Given the description of an element on the screen output the (x, y) to click on. 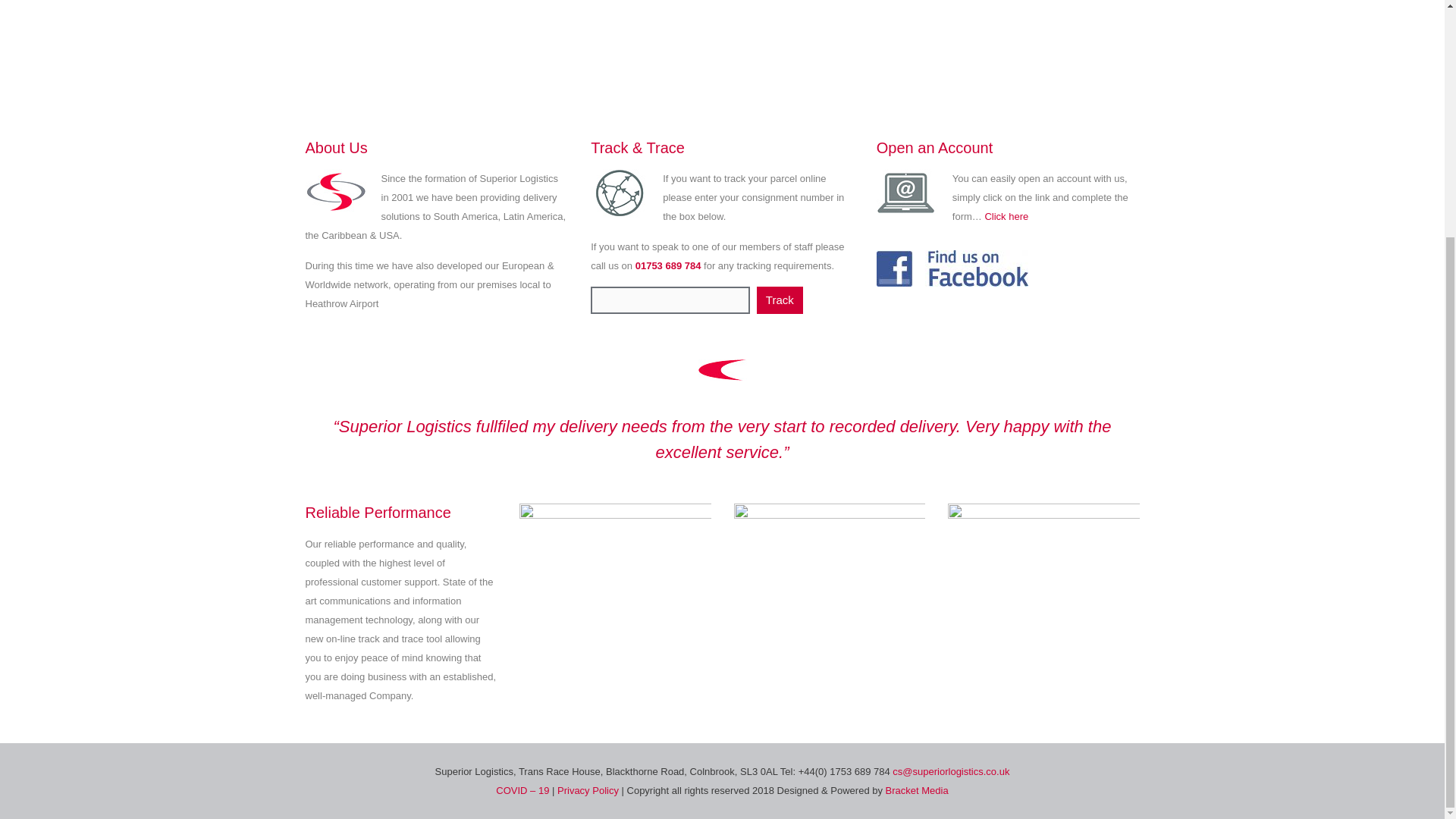
Bracket Media (917, 790)
Track (780, 299)
Track (780, 299)
Privacy Policy (589, 790)
Click here (1005, 215)
find-us-on-facebook (951, 268)
01753 689 784 (667, 265)
